Given the description of an element on the screen output the (x, y) to click on. 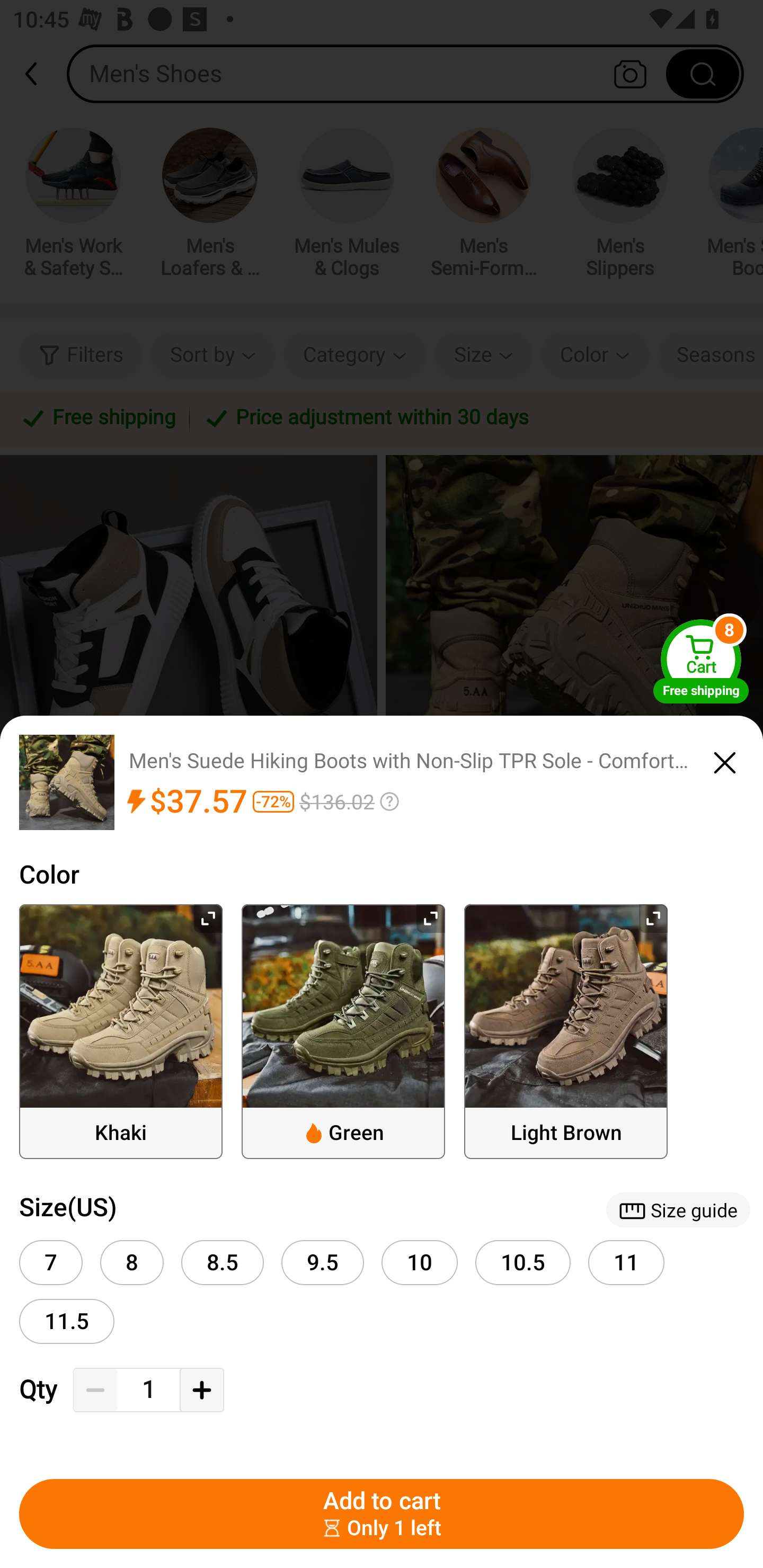
Cart Free shipping Cart (701, 660)
close (724, 760)
Khaki (120, 1031)
Green ￼Green (342, 1031)
Light Brown (565, 1031)
￼Size guide (677, 1209)
 7 (50, 1262)
 8 (131, 1262)
 8.5 (222, 1262)
 9.5 (322, 1262)
 10 (419, 1262)
 10.5 (522, 1262)
 11 (626, 1262)
 11.5 (66, 1320)
Decrease Quantity Button (95, 1389)
Add Quantity Button (201, 1389)
1 (148, 1389)
Add to cart ￼￼Only 1 left (381, 1513)
